Given the description of an element on the screen output the (x, y) to click on. 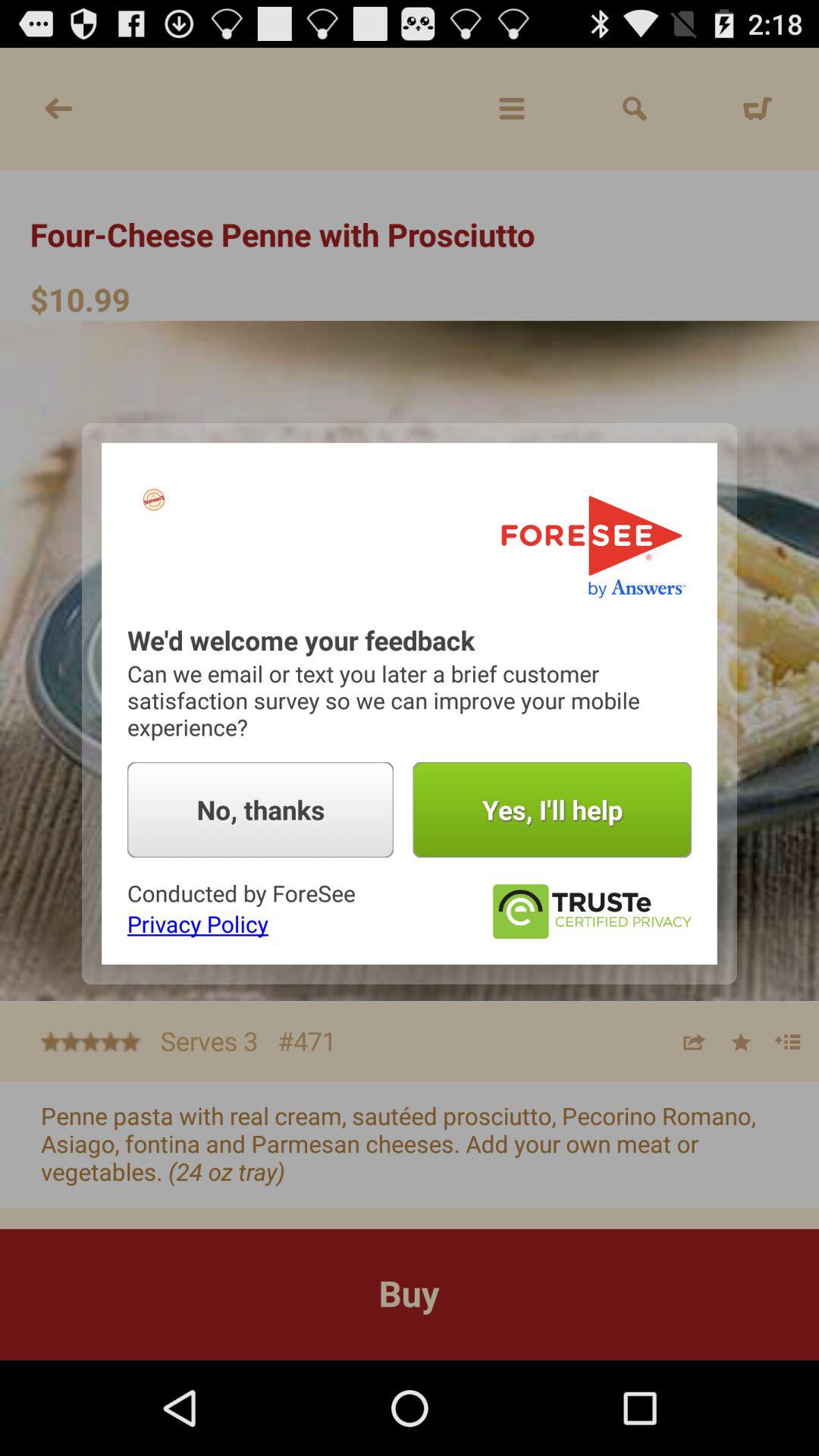
swipe to the yes i ll button (551, 809)
